Given the description of an element on the screen output the (x, y) to click on. 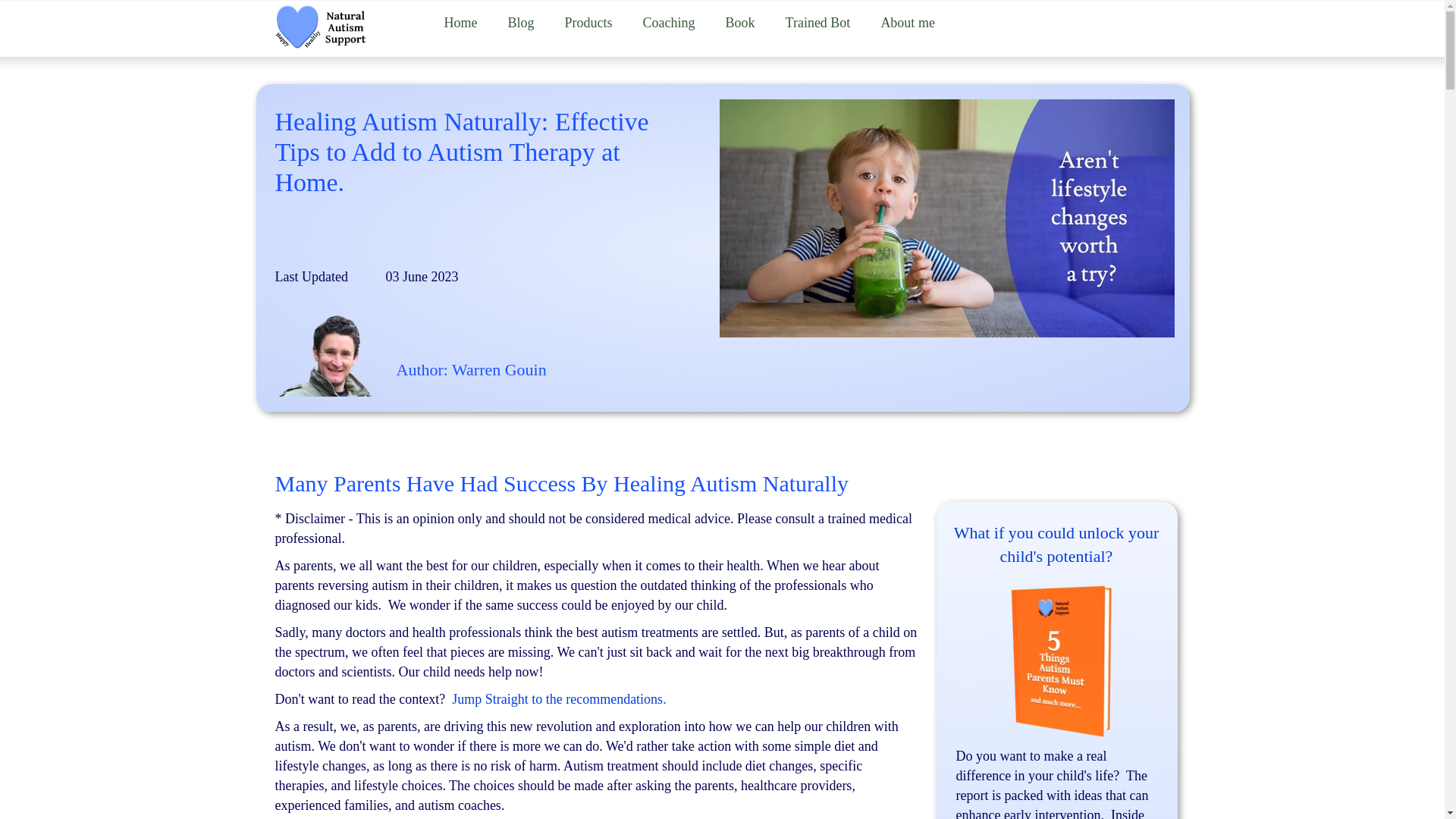
Products (588, 22)
Aren't lifestyle changes worth a try? (946, 218)
What if you could unlock your child's potential? (1055, 544)
Natural Autism Support (320, 26)
Coaching (668, 22)
Jump Straight to the recommendations. (558, 698)
About me (907, 22)
Book, 5 Things Autism Parents Must Know. (1063, 660)
Home (461, 22)
Blog (521, 22)
Trained Bot (818, 22)
Book (740, 22)
